Given the description of an element on the screen output the (x, y) to click on. 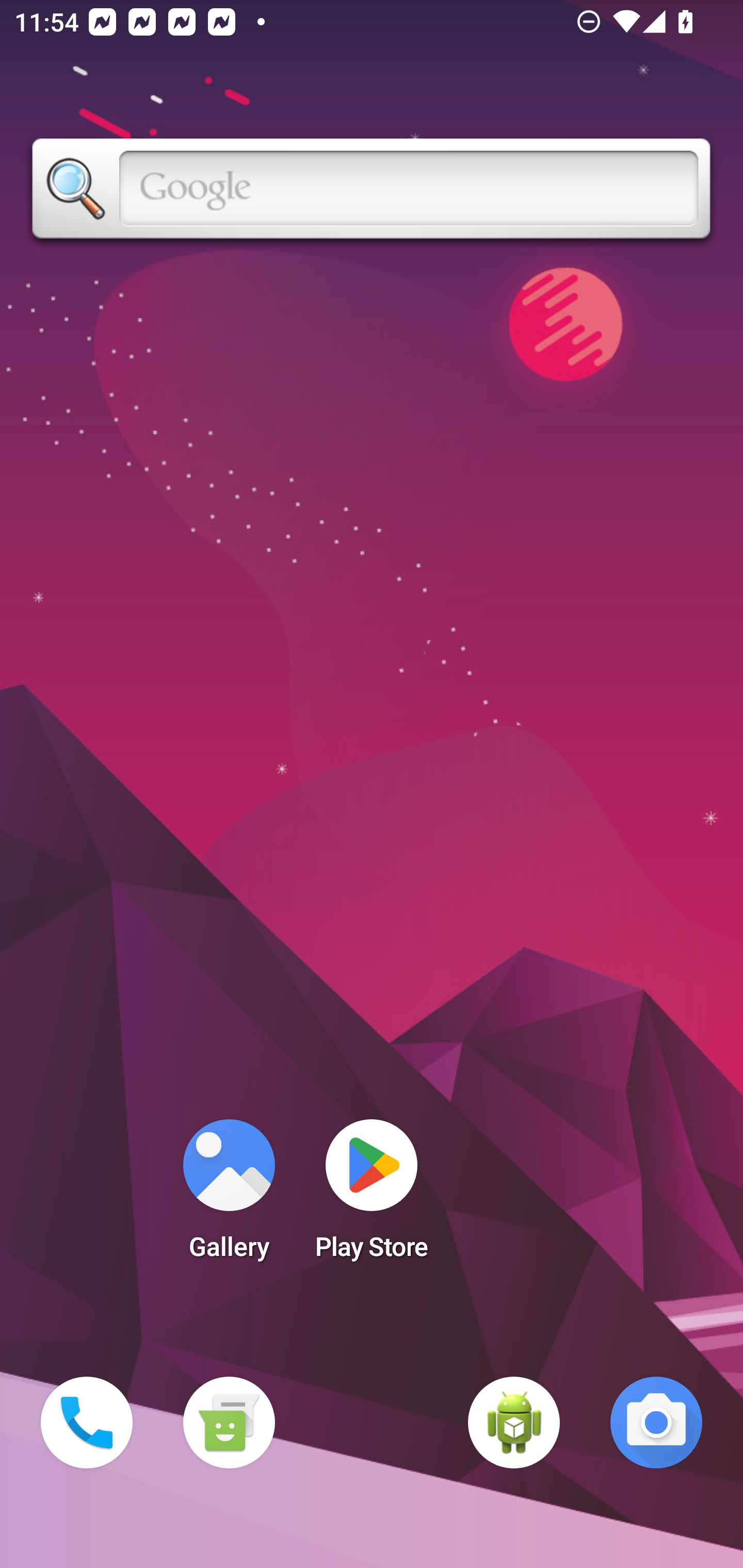
Gallery (228, 1195)
Play Store (371, 1195)
Phone (86, 1422)
Messaging (228, 1422)
WebView Browser Tester (513, 1422)
Camera (656, 1422)
